Given the description of an element on the screen output the (x, y) to click on. 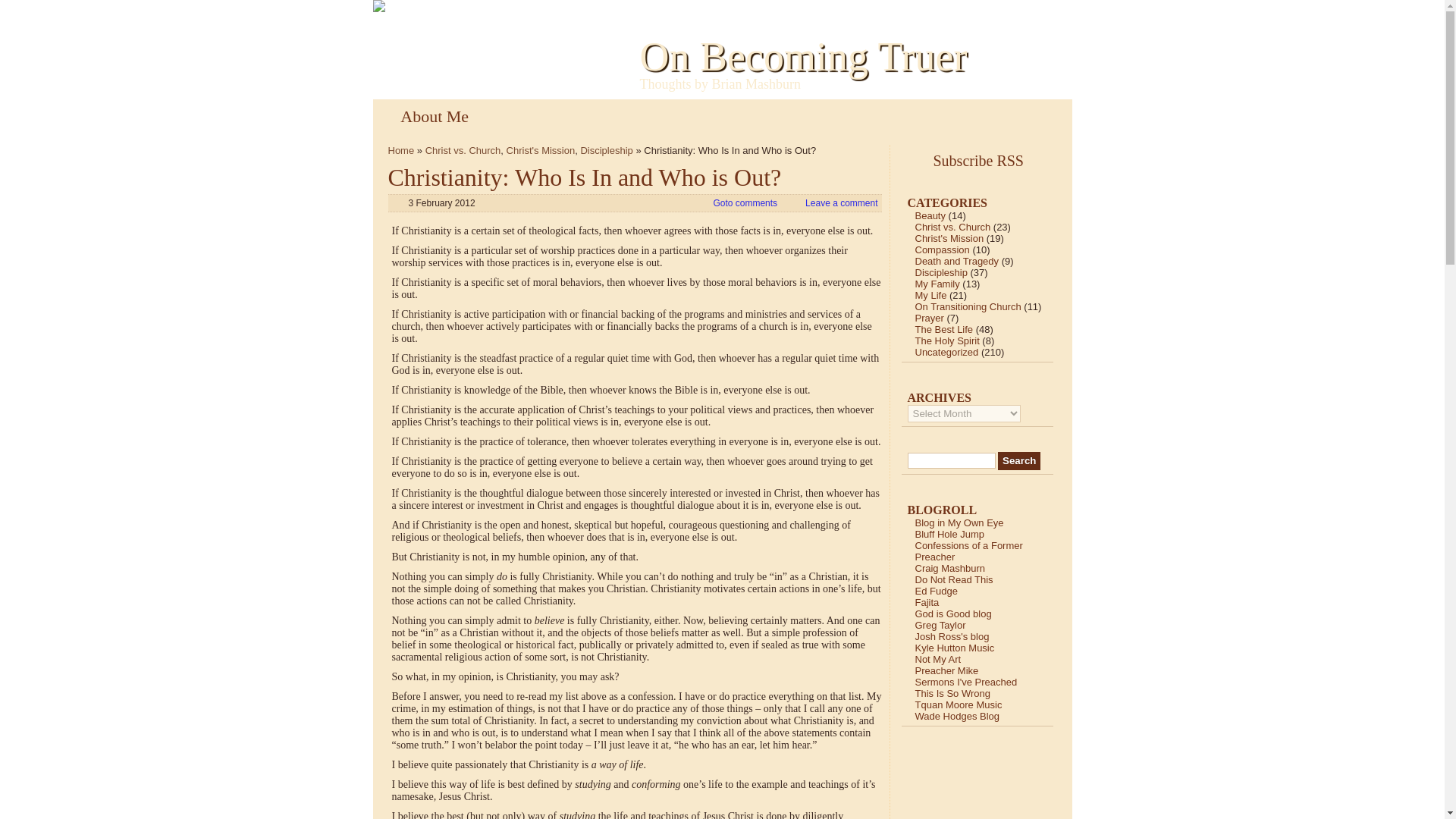
Christ vs. Church (462, 150)
On Becoming Truer (804, 56)
Goto comments (745, 203)
About Me (434, 116)
Christianity: Who Is In and Who is Out? (584, 176)
Home (401, 150)
Search (1019, 461)
Subscribe RSS (982, 159)
Christ's Mission (540, 150)
Leave a comment (841, 203)
